Given the description of an element on the screen output the (x, y) to click on. 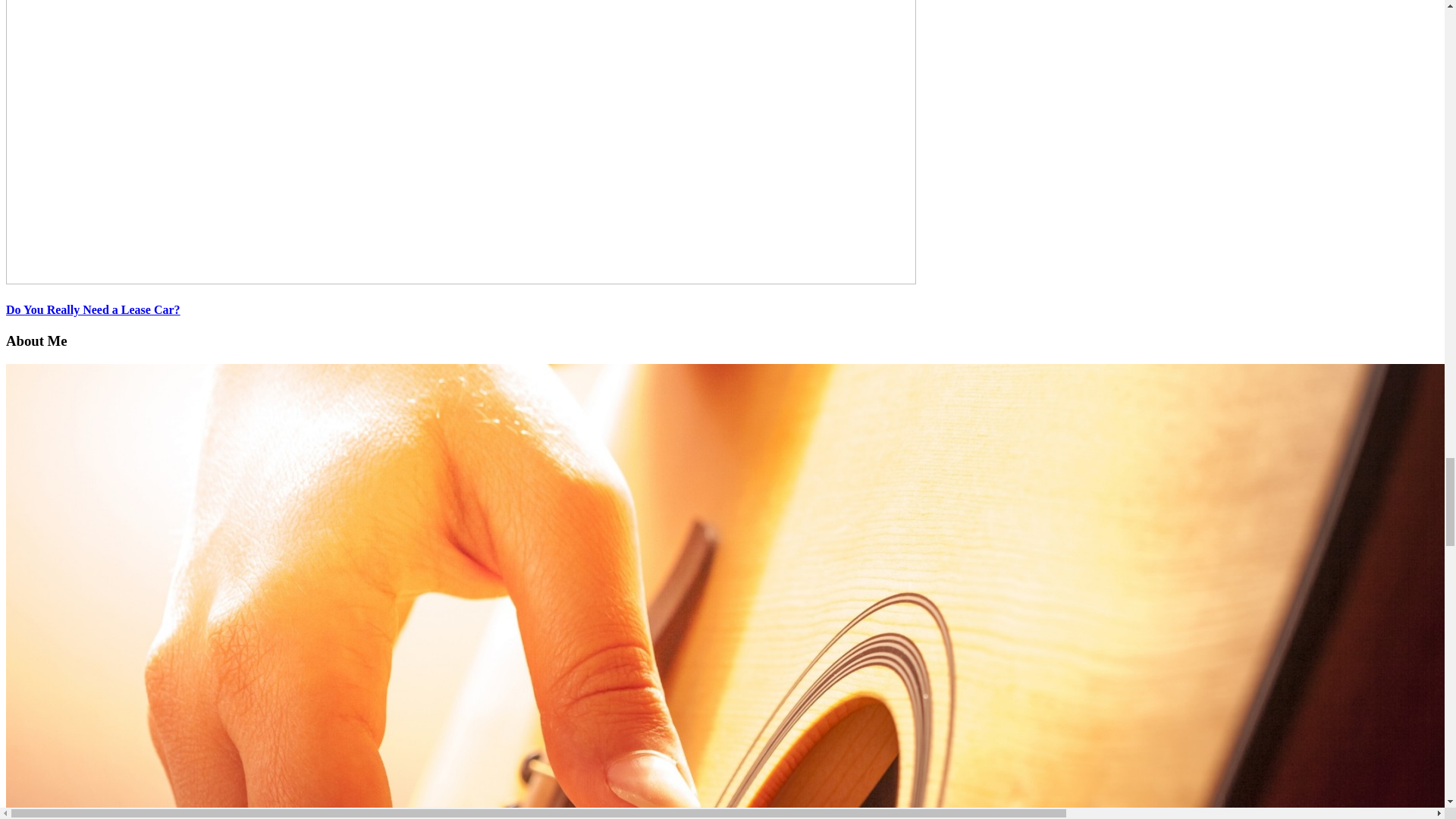
Do You Really Need a Lease Car? (92, 309)
